Given the description of an element on the screen output the (x, y) to click on. 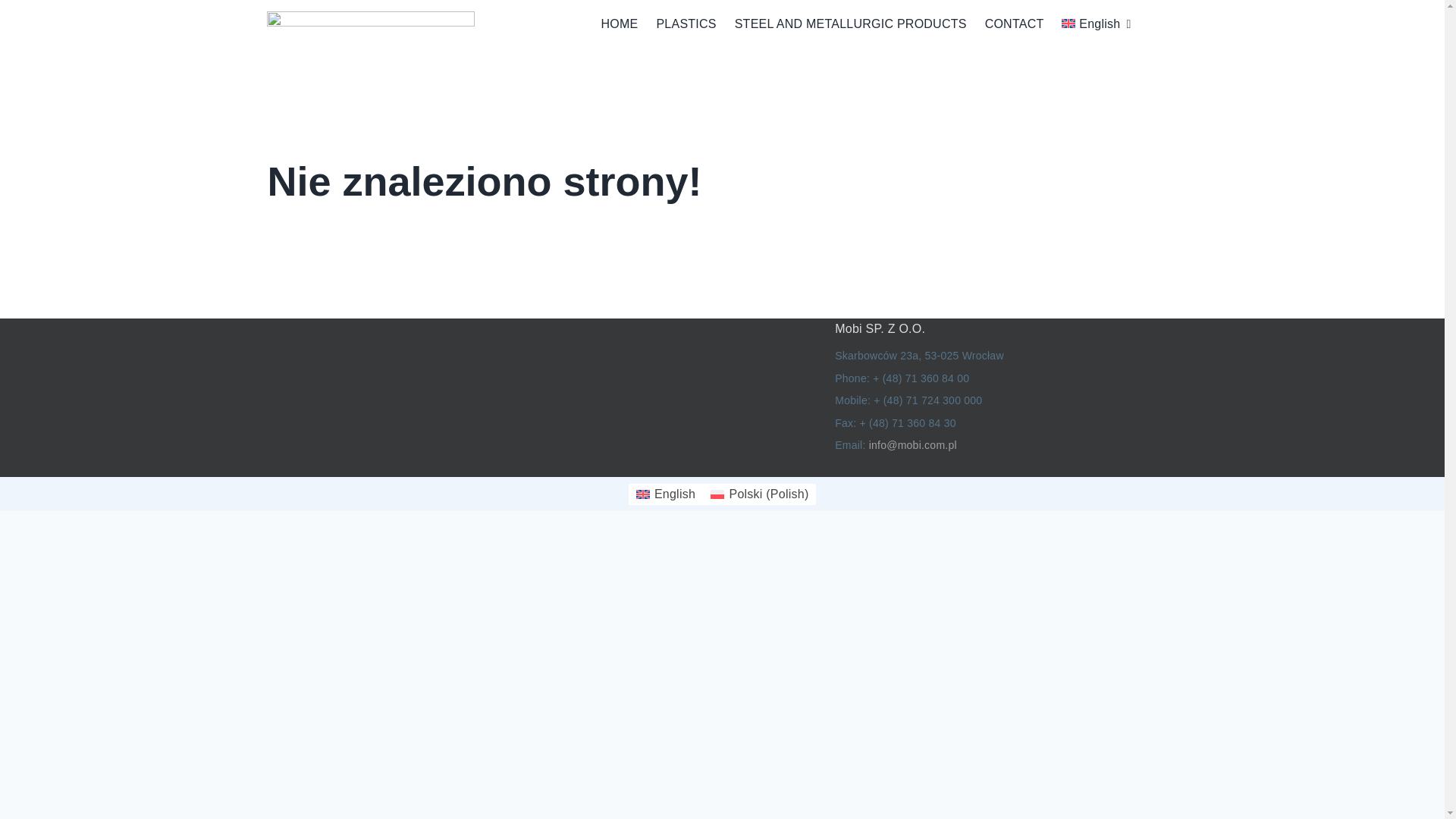
English (1087, 24)
English (665, 494)
STEEL AND METALLURGIC PRODUCTS (841, 24)
PLASTICS (676, 24)
English (1087, 24)
CONTACT (1004, 24)
HOME (609, 24)
